Given the description of an element on the screen output the (x, y) to click on. 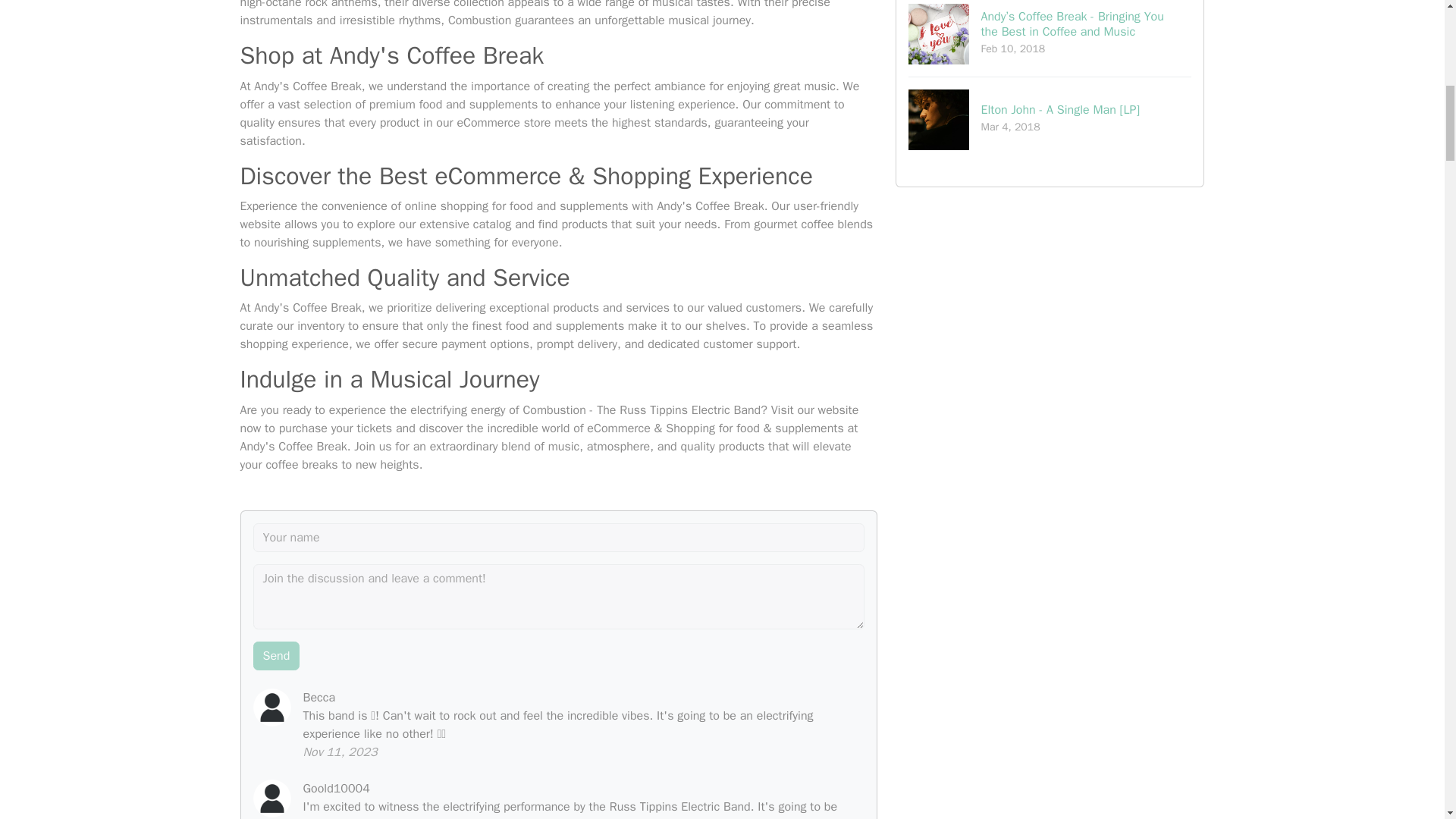
Send (276, 655)
Send (276, 655)
